Given the description of an element on the screen output the (x, y) to click on. 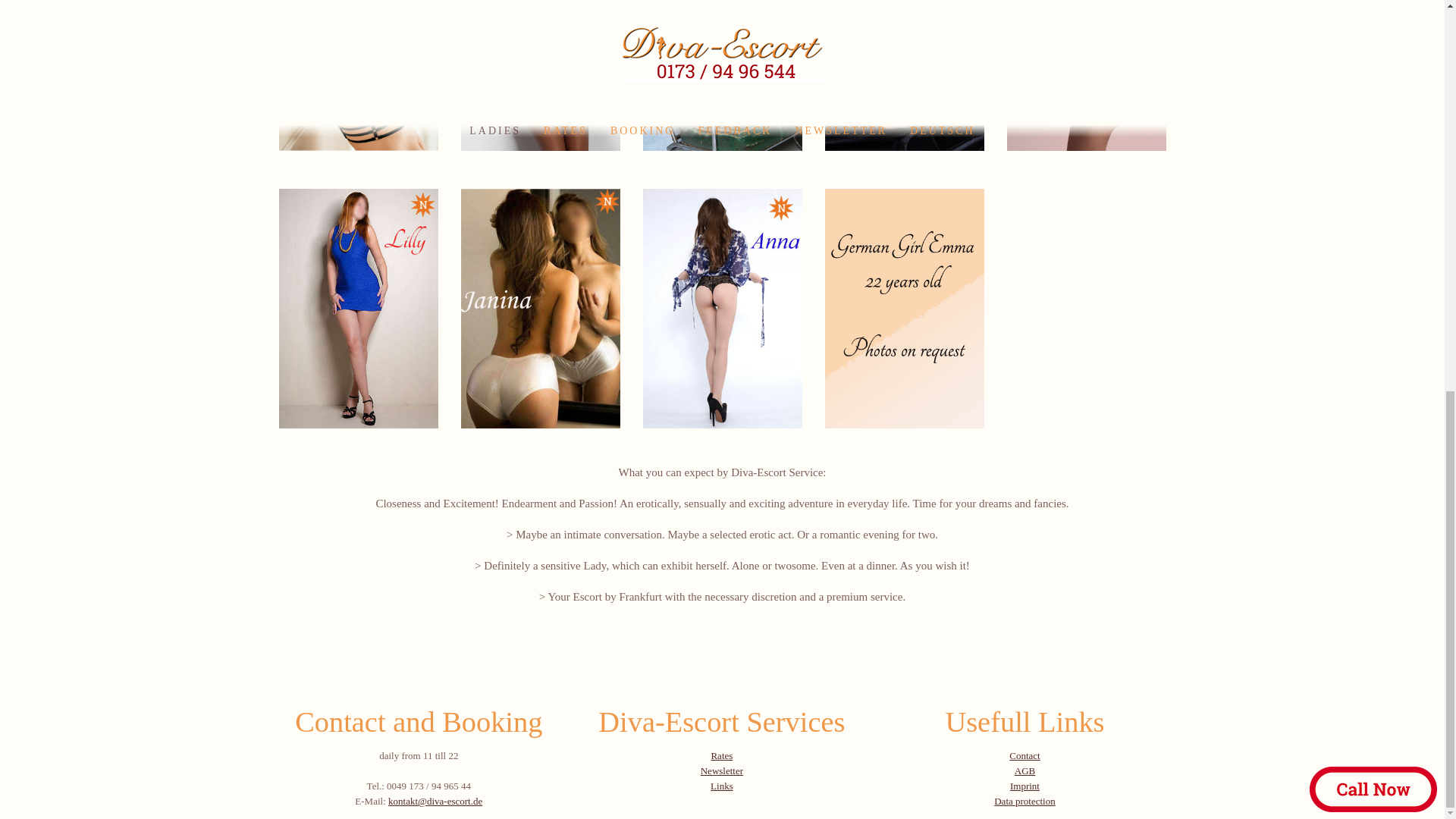
Diva-Escort Data protection (1024, 800)
AGB (1027, 777)
Data protection (1024, 800)
Diva-Escort Newsletter (721, 770)
Links (726, 793)
Diva-Escort Impressum (1024, 785)
Contact (1024, 755)
Imprint (1024, 785)
Diva-Escort Rates (721, 755)
Diva-Escort AGB (1027, 777)
